Given the description of an element on the screen output the (x, y) to click on. 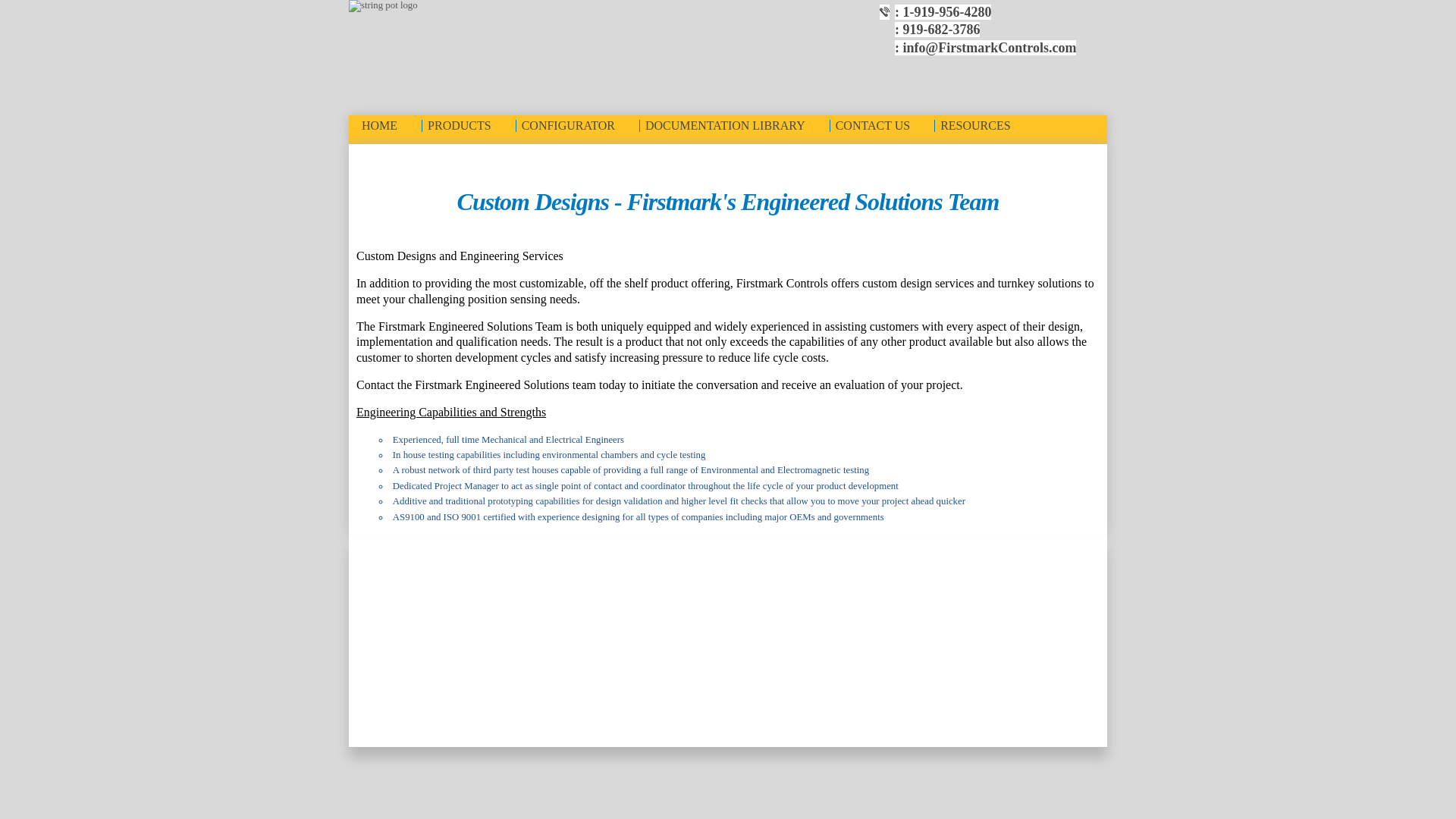
Contact Us (881, 125)
PRODUCTS (469, 125)
CONTACT US (881, 125)
Firstmark Controls String Position Transducers (389, 125)
Products (469, 125)
HOME (389, 125)
CONFIGURATOR (578, 125)
Resources (983, 125)
DOCUMENTATION LIBRARY (734, 125)
RESOURCES (983, 125)
Documentation Library (734, 125)
